Given the description of an element on the screen output the (x, y) to click on. 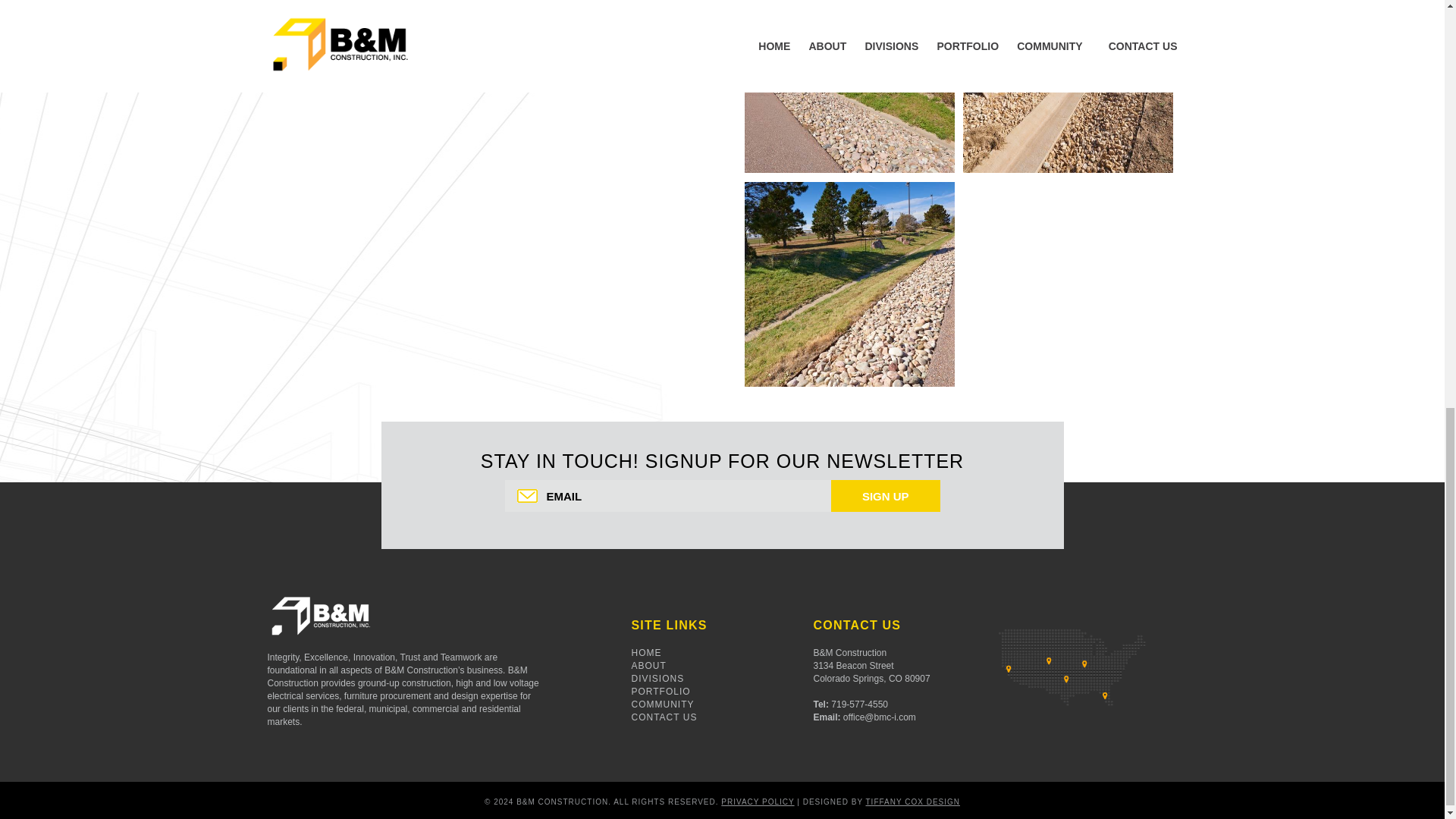
PRIVACY POLICY (756, 801)
CONTACT US (663, 716)
Sign Up (885, 495)
COMMUNITY (662, 704)
ABOUT (647, 665)
DIVISIONS (657, 678)
TIFFANY COX DESIGN (913, 801)
HOME (645, 652)
PORTFOLIO (660, 691)
Sign Up (885, 495)
